Given the description of an element on the screen output the (x, y) to click on. 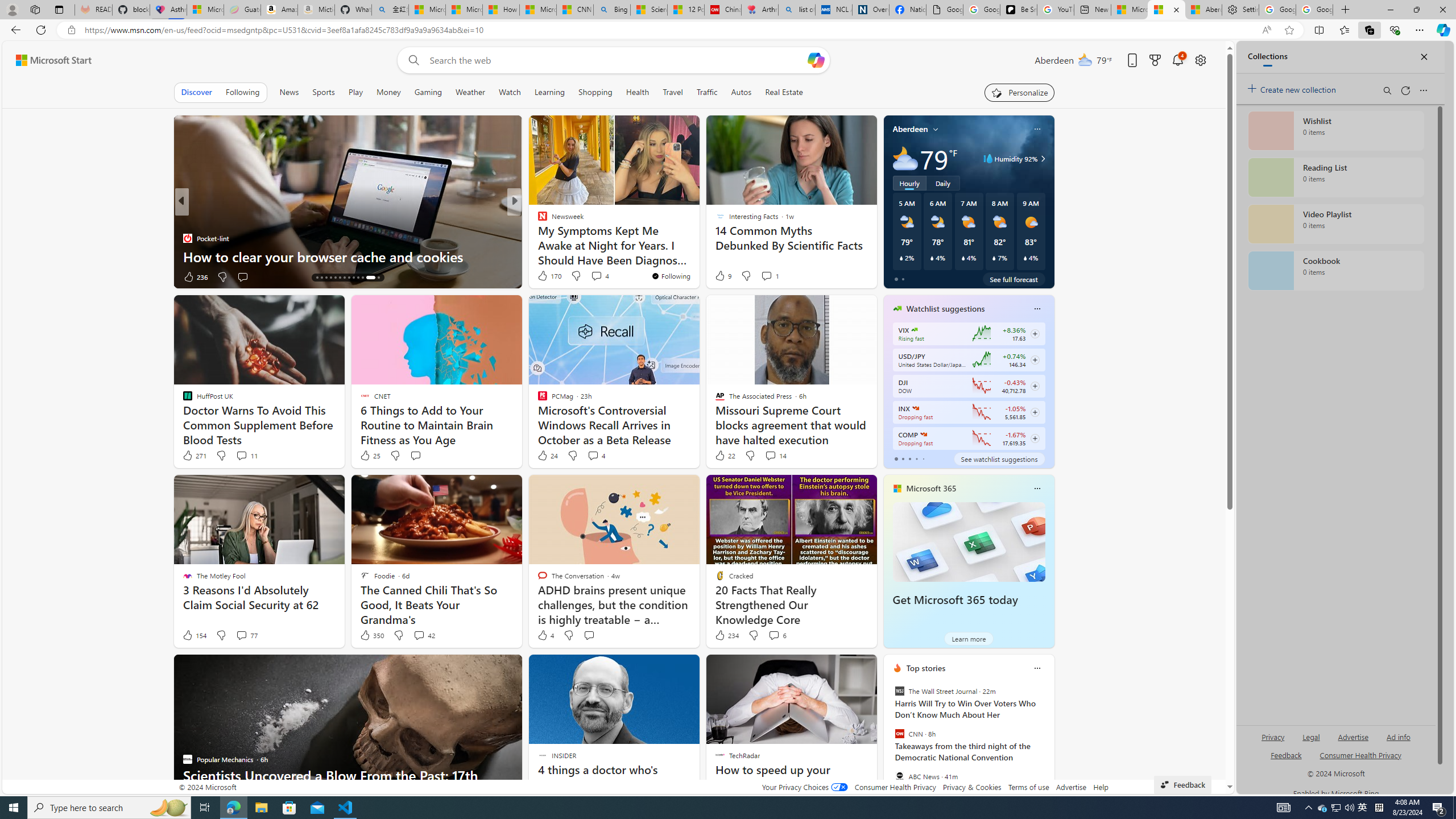
View comments 11 Comment (246, 455)
Money (388, 92)
tab-1 (903, 458)
Weather (470, 92)
CBOE Market Volatility Index (914, 329)
AutomationID: sb_feedback (1286, 754)
previous (888, 741)
Bing (611, 9)
Hide this story (841, 668)
